Given the description of an element on the screen output the (x, y) to click on. 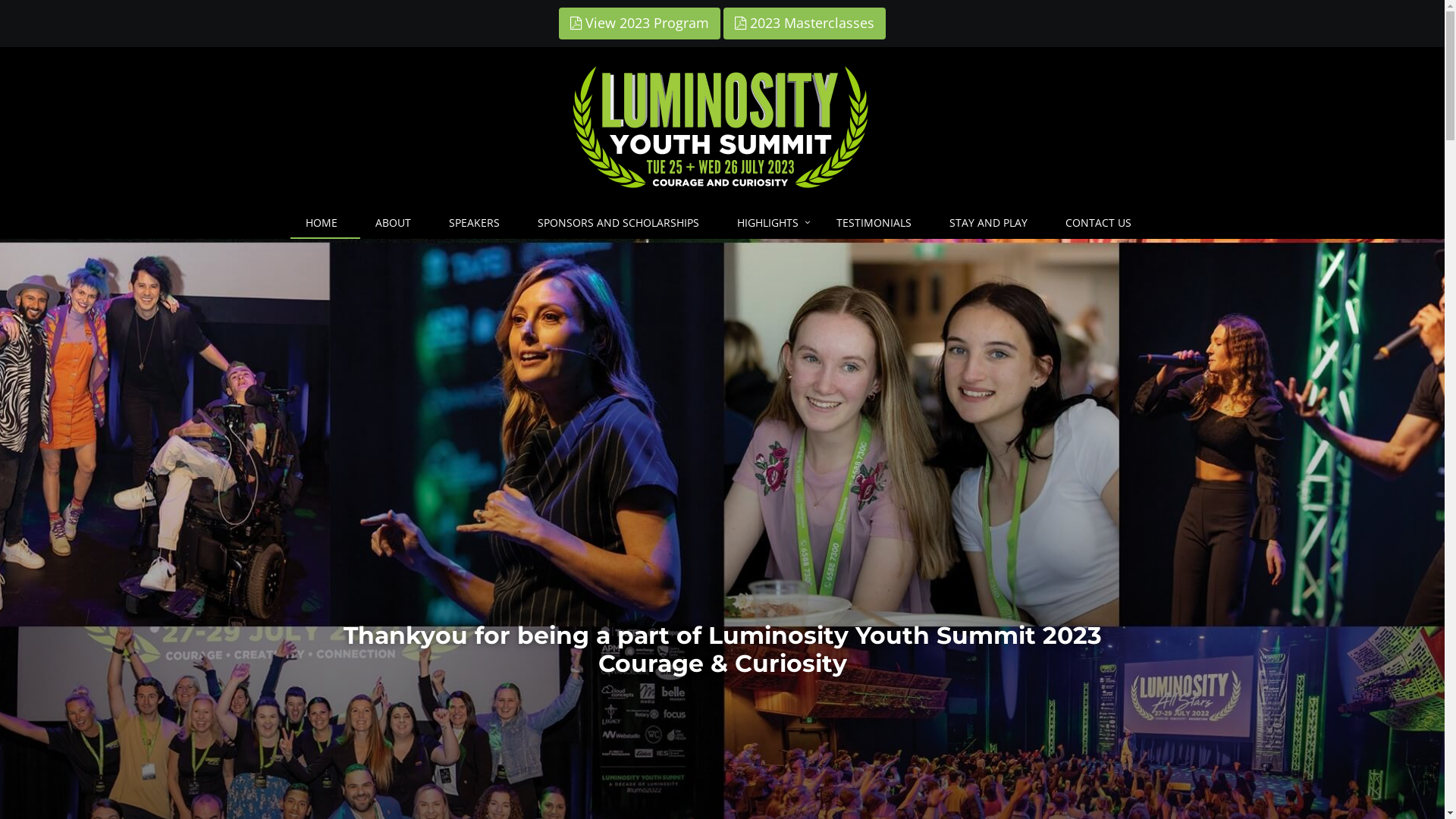
SPEAKERS Element type: text (477, 222)
STAY AND PLAY Element type: text (992, 222)
2023 Masterclasses Element type: text (804, 23)
SPONSORS AND SCHOLARSHIPS Element type: text (621, 222)
HOME Element type: text (325, 222)
ABOUT Element type: text (396, 222)
CONTACT US Element type: text (1102, 222)
View 2023 Program Element type: text (639, 23)
HIGHLIGHTS Element type: text (771, 222)
TESTIMONIALS Element type: text (877, 222)
